Given the description of an element on the screen output the (x, y) to click on. 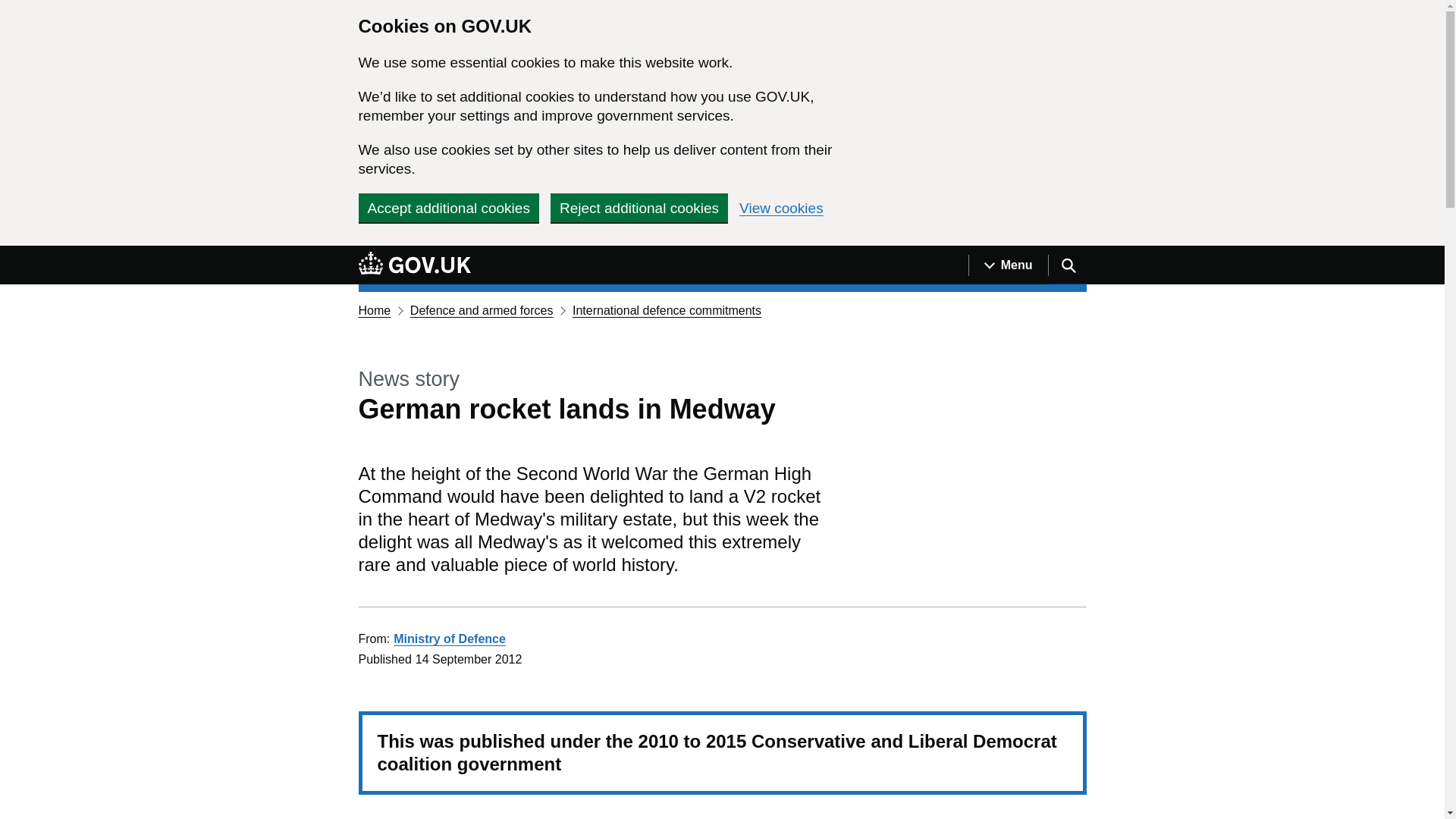
Menu (1008, 265)
Search GOV.UK (1067, 265)
GOV.UK (414, 264)
Accept additional cookies (448, 207)
View cookies (781, 207)
GOV.UK (414, 262)
Skip to main content (11, 254)
International defence commitments (666, 309)
Reject additional cookies (639, 207)
Ministry of Defence (449, 638)
Defence and armed forces (481, 309)
Home (374, 309)
